Given the description of an element on the screen output the (x, y) to click on. 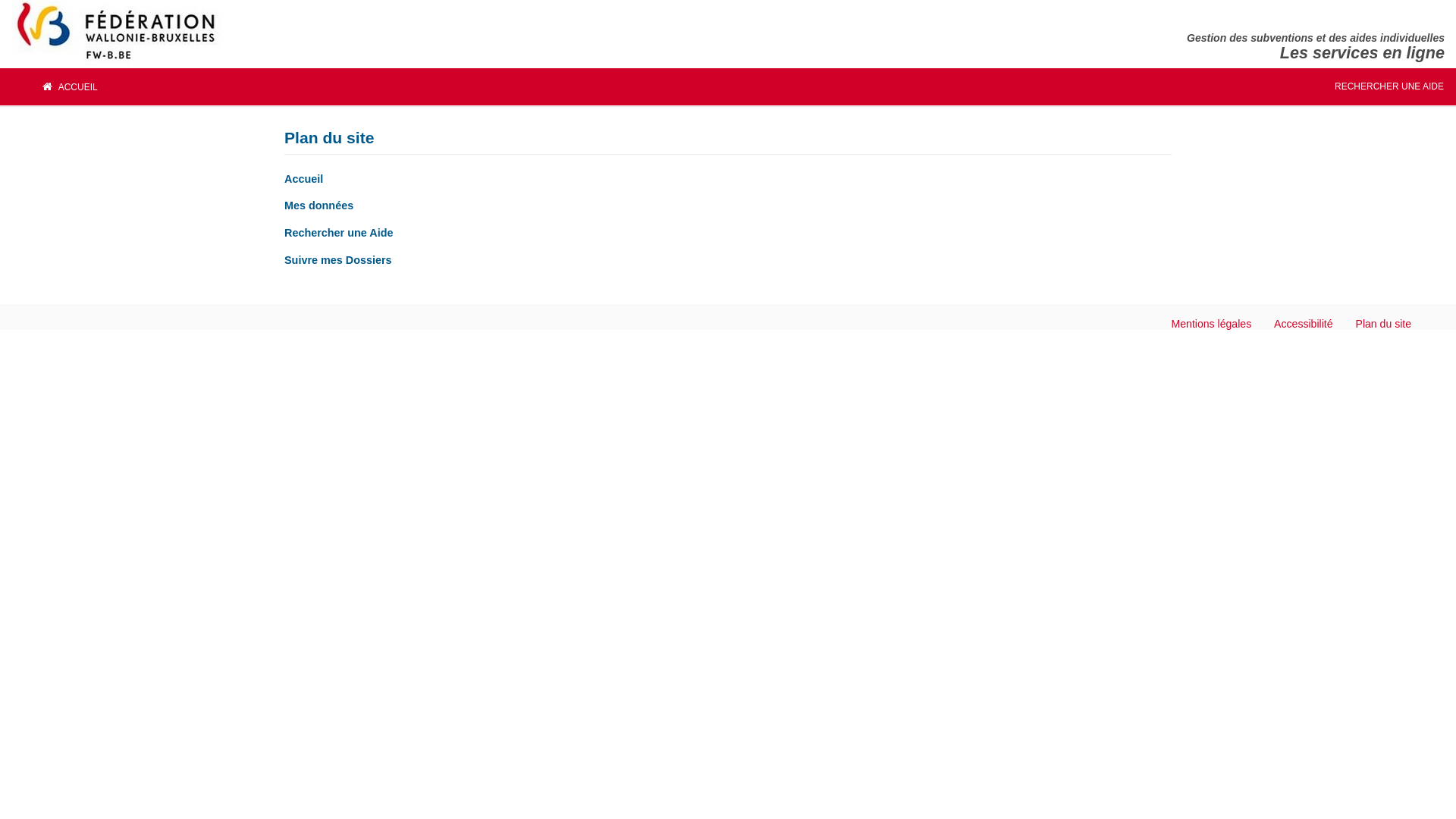
Accueil Element type: text (303, 178)
Plan du site Element type: text (1383, 323)
Suivre mes Dossiers Element type: text (338, 260)
Rechercher une Aide Element type: text (338, 232)
ACCUEIL Element type: text (69, 86)
